Given the description of an element on the screen output the (x, y) to click on. 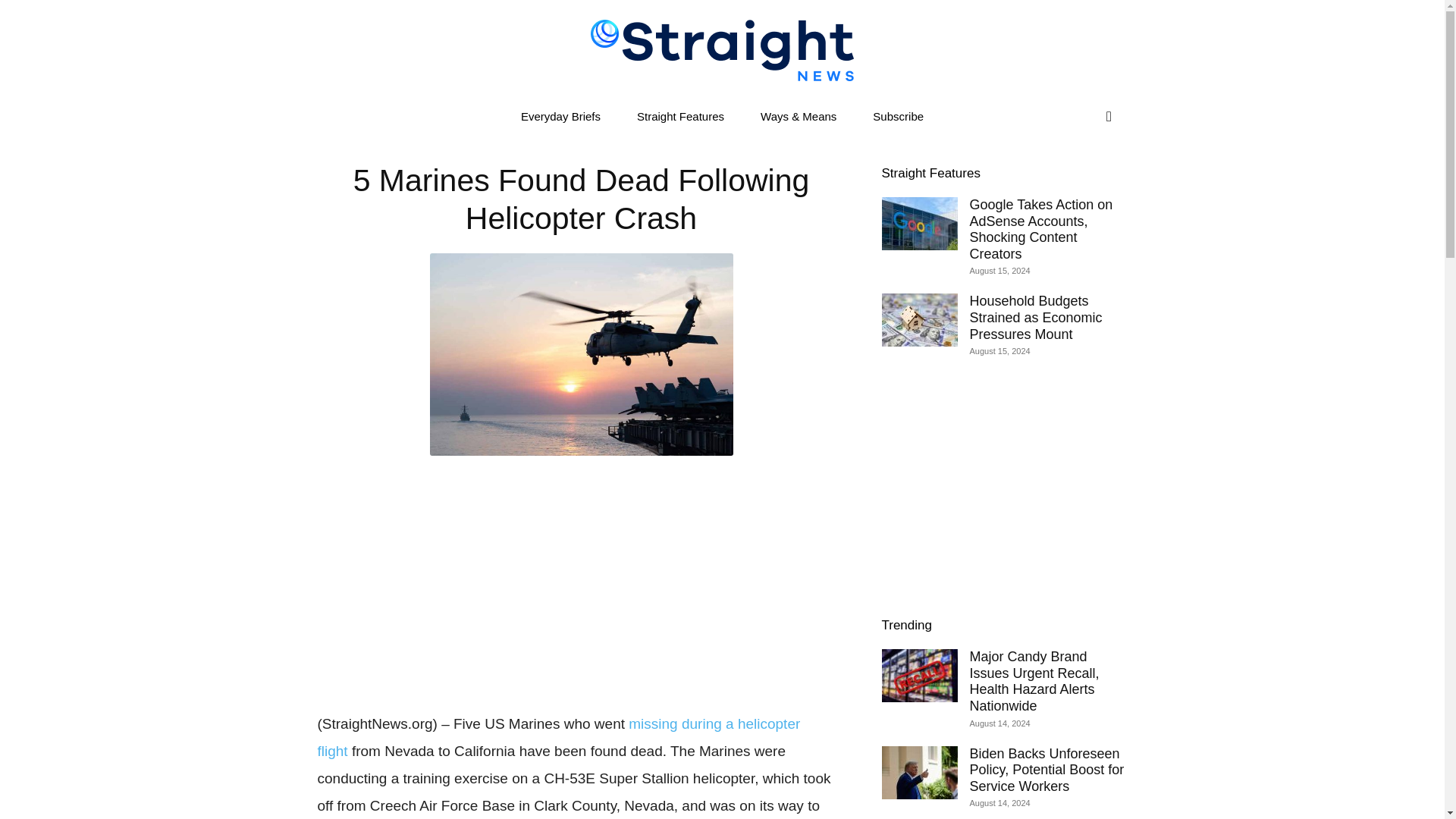
Search (1077, 177)
Straight Features (929, 173)
Straight Features (680, 116)
Everyday Briefs (560, 116)
Subscribe (898, 116)
missing during a helicopter flight (558, 737)
Advertisement (580, 580)
